Given the description of an element on the screen output the (x, y) to click on. 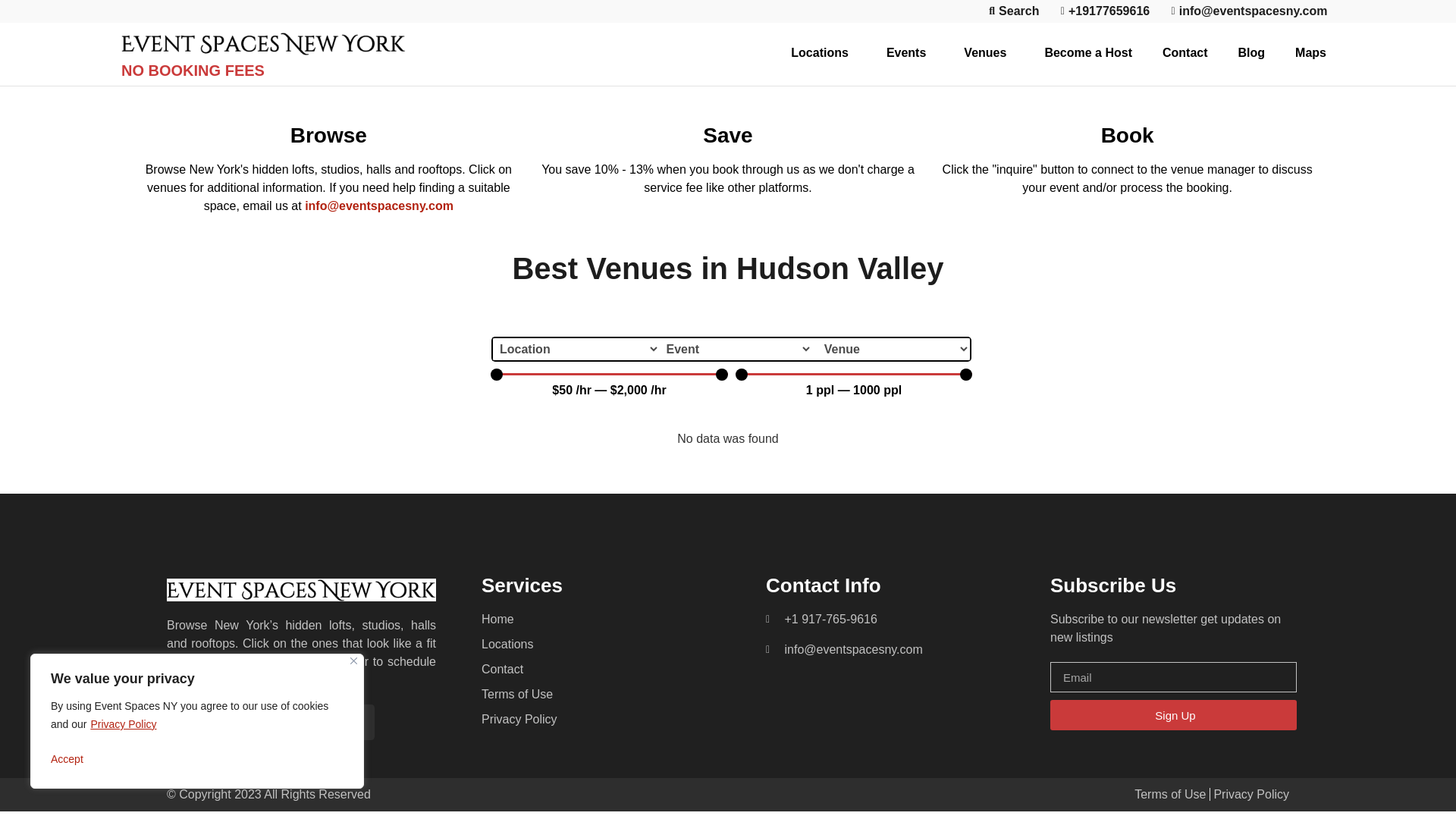
Events (909, 53)
1 (853, 374)
1000 (853, 374)
Privacy Policy (122, 724)
Accept (196, 759)
50 (609, 374)
2000 (609, 374)
Search (1010, 11)
Locations (823, 53)
